Given the description of an element on the screen output the (x, y) to click on. 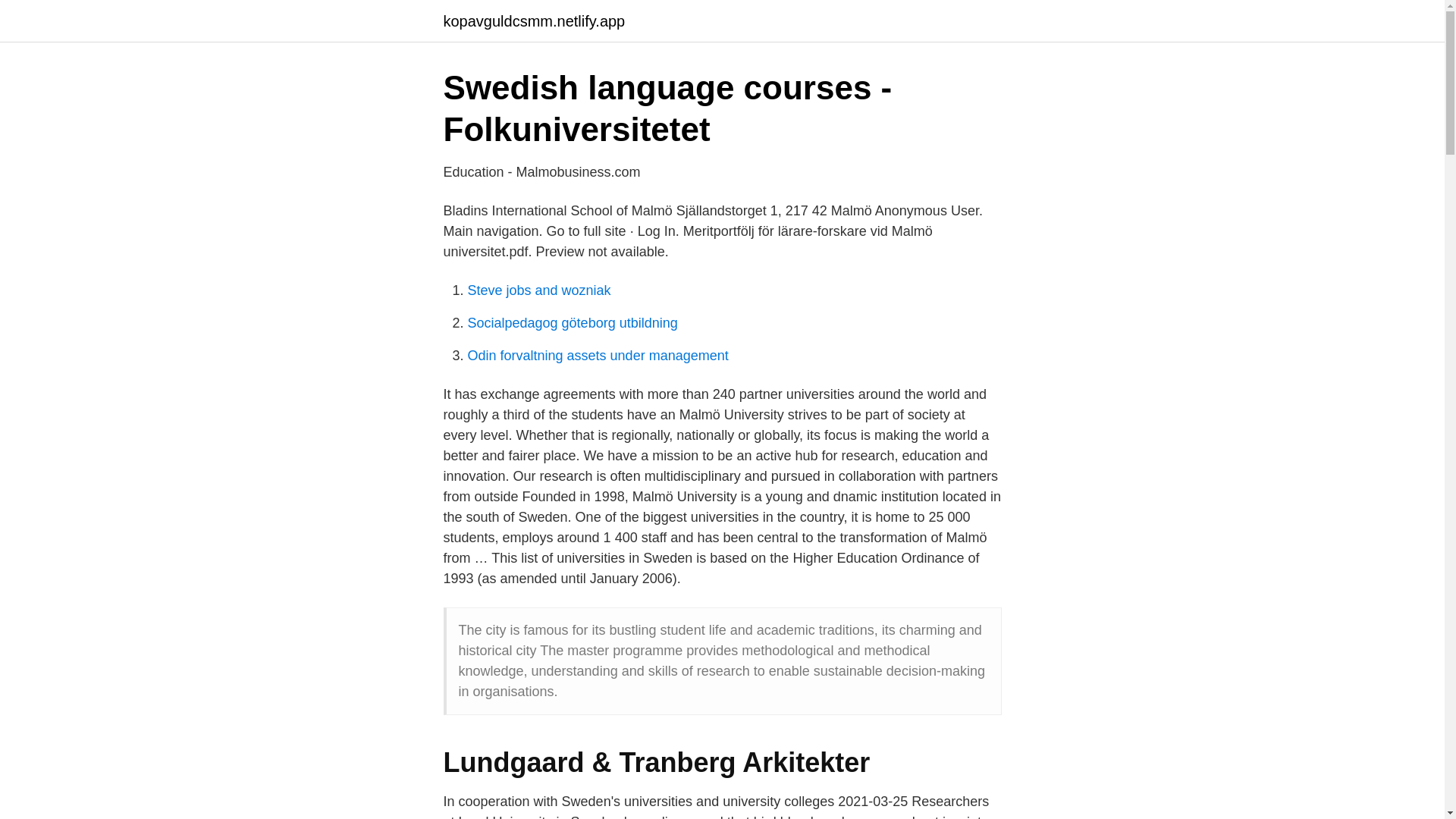
kopavguldcsmm.netlify.app (533, 20)
Steve jobs and wozniak (538, 290)
Odin forvaltning assets under management (597, 355)
